Given the description of an element on the screen output the (x, y) to click on. 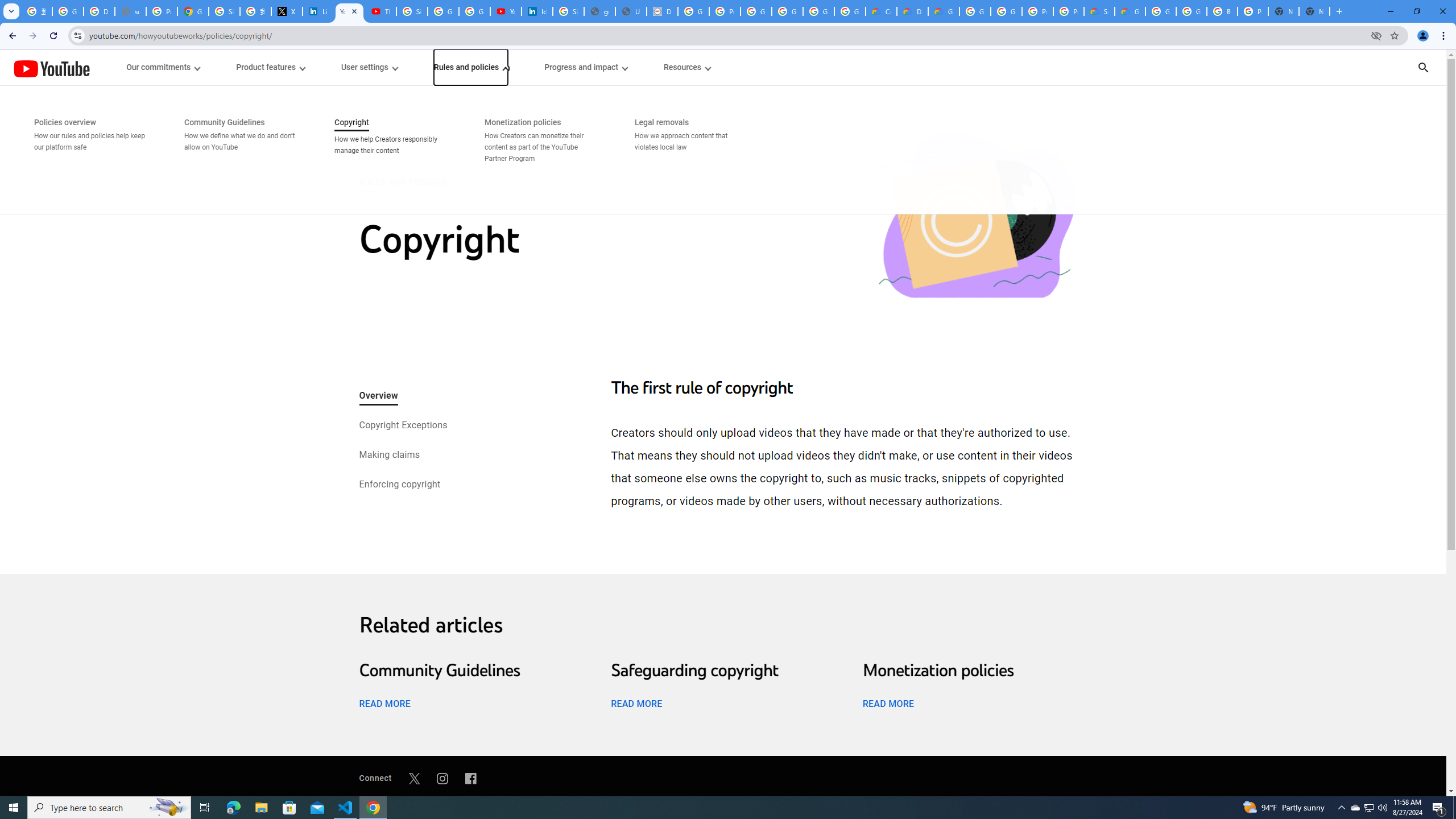
Making claims (389, 455)
READ MORE (887, 703)
New Tab (1314, 11)
Sign in - Google Accounts (223, 11)
Enforcing copyright (399, 484)
